Given the description of an element on the screen output the (x, y) to click on. 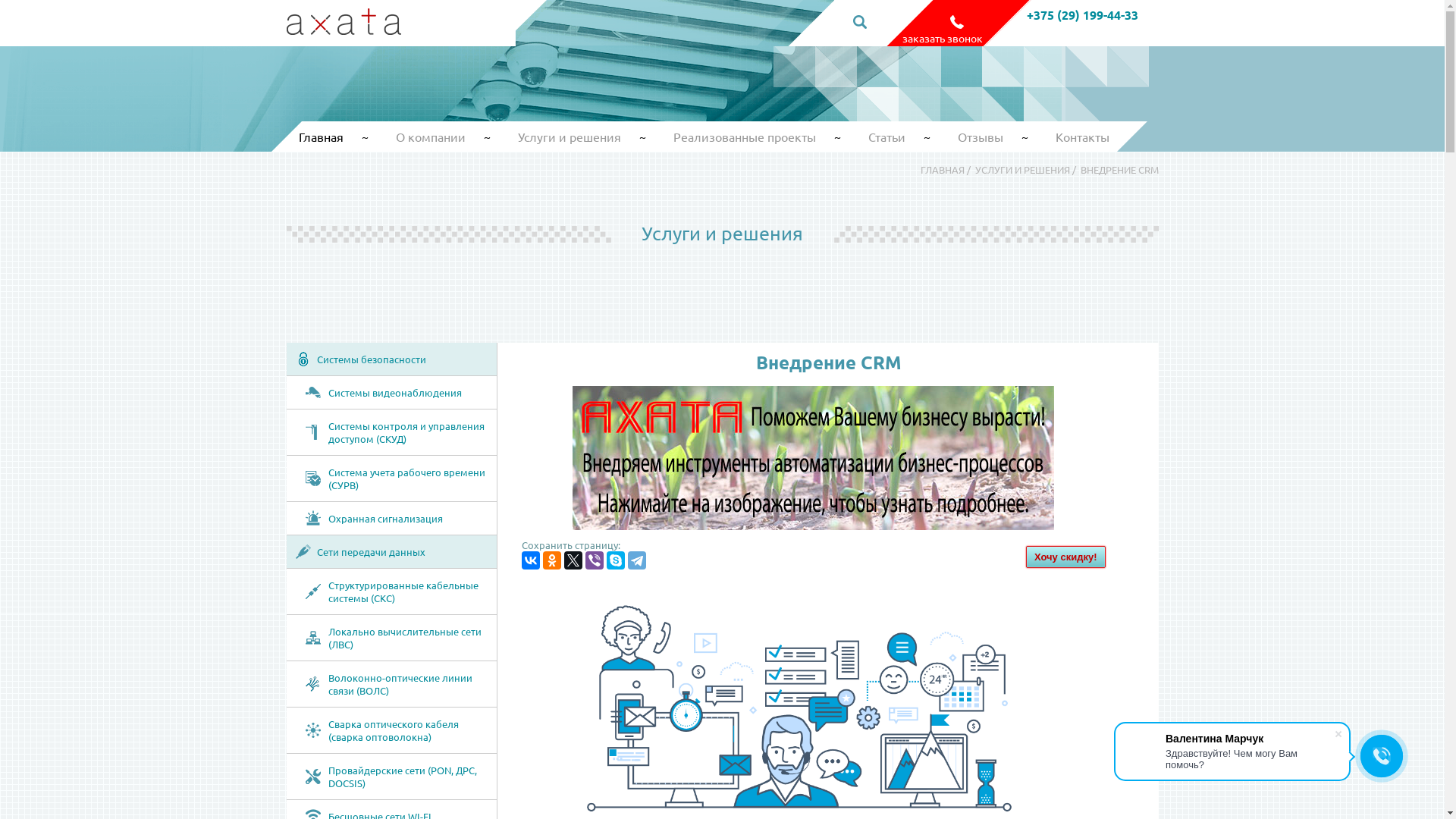
Twitter Element type: hover (573, 560)
Viber Element type: hover (594, 560)
Telegram Element type: hover (636, 560)
+375 (29) 199-44-33 Element type: text (1082, 14)
Skype Element type: hover (615, 560)
